Given the description of an element on the screen output the (x, y) to click on. 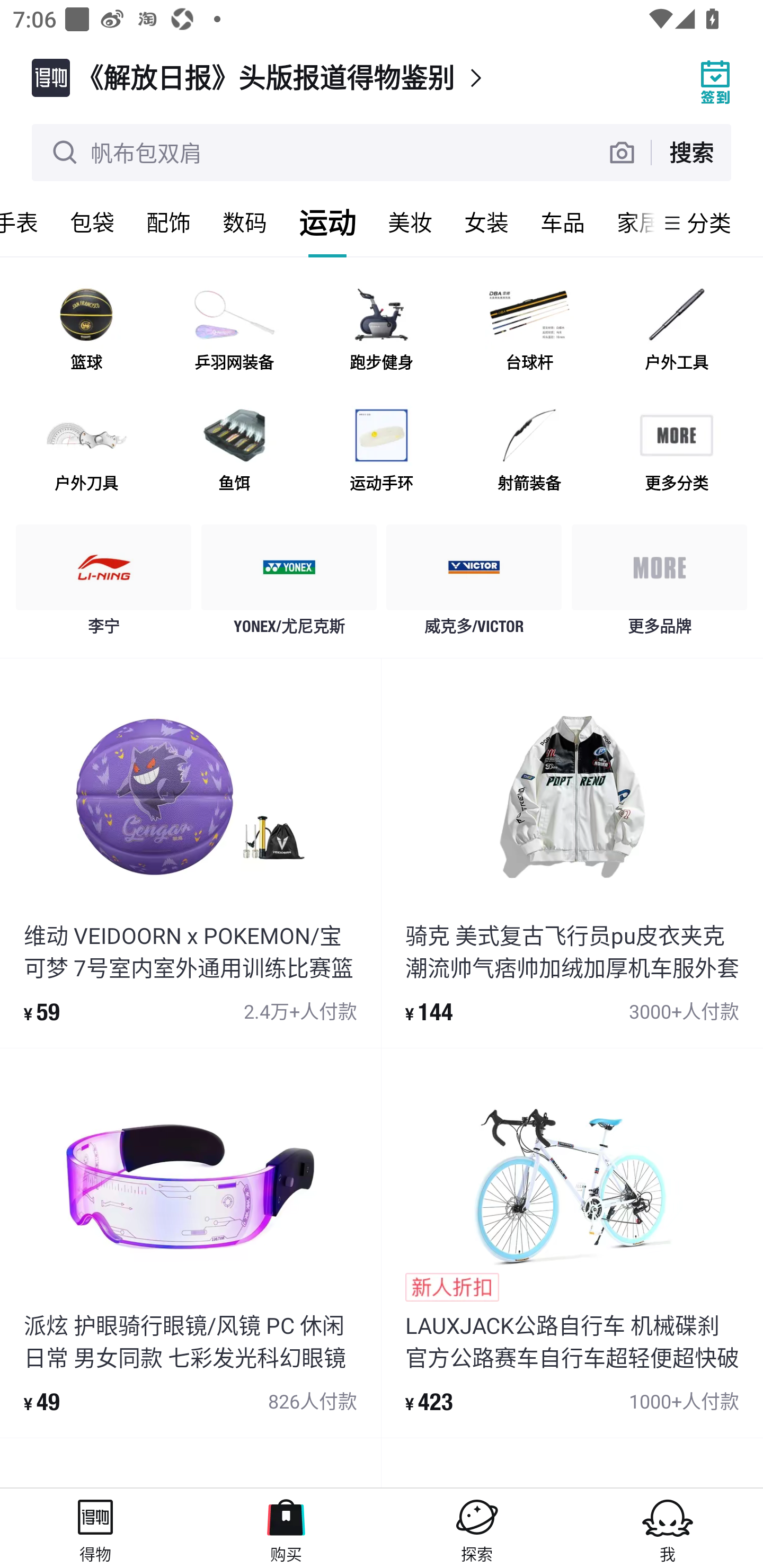
搜索 (690, 152)
手表 (27, 222)
包袋 (92, 222)
配饰 (168, 222)
数码 (244, 222)
运动 (327, 222)
美妆 (410, 222)
女装 (486, 222)
车品 (562, 222)
家居 (627, 222)
分类 (708, 222)
篮球 (86, 329)
乒羽网装备 (233, 329)
跑步健身 (381, 329)
台球杆 (528, 329)
户外工具 (676, 329)
户外刀具 (86, 450)
鱼饵 (233, 450)
运动手环 (381, 450)
射箭装备 (528, 450)
更多分类 (676, 450)
李宁 (103, 583)
YONEX/尤尼克斯 (288, 583)
威克多/VICTOR (473, 583)
更多品牌 (658, 583)
得物 (95, 1528)
购买 (285, 1528)
探索 (476, 1528)
我 (667, 1528)
